Given the description of an element on the screen output the (x, y) to click on. 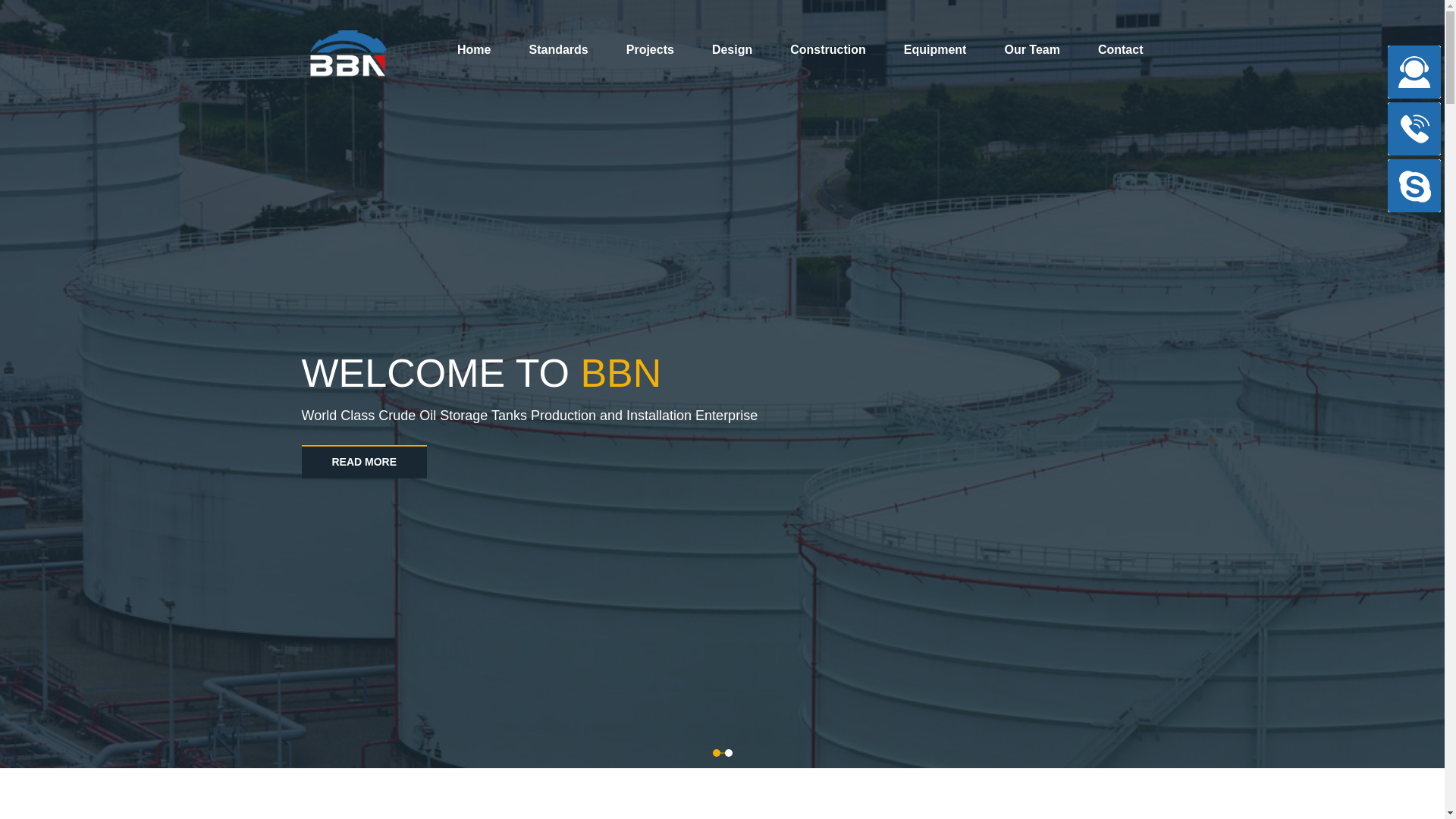
Our Team (1031, 48)
Standards (558, 48)
Projects (650, 48)
Design (731, 48)
Construction (828, 48)
Equipment (935, 48)
READ MORE (364, 461)
Contact (1119, 48)
